Given the description of an element on the screen output the (x, y) to click on. 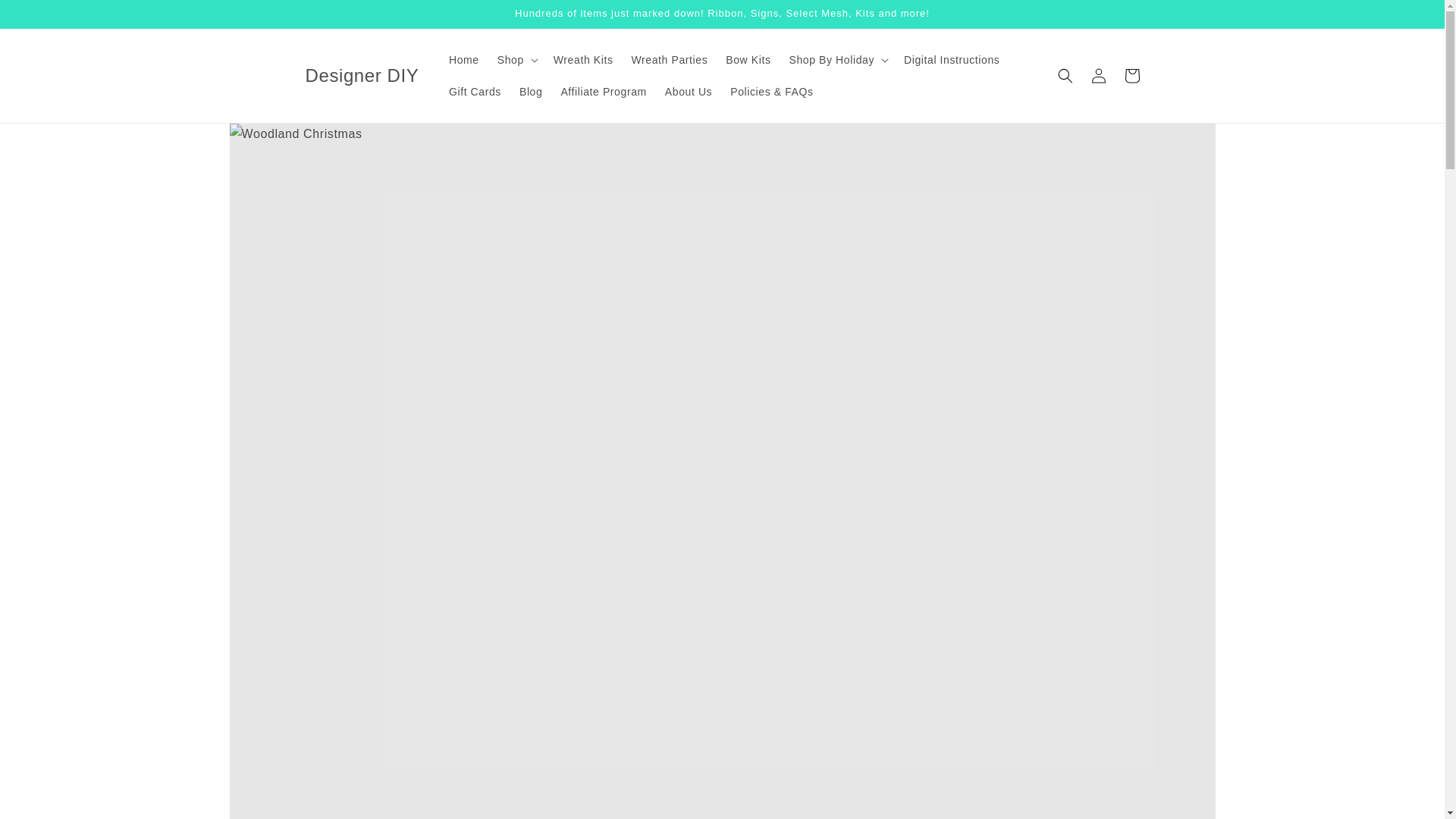
Skip to content (45, 17)
